Given the description of an element on the screen output the (x, y) to click on. 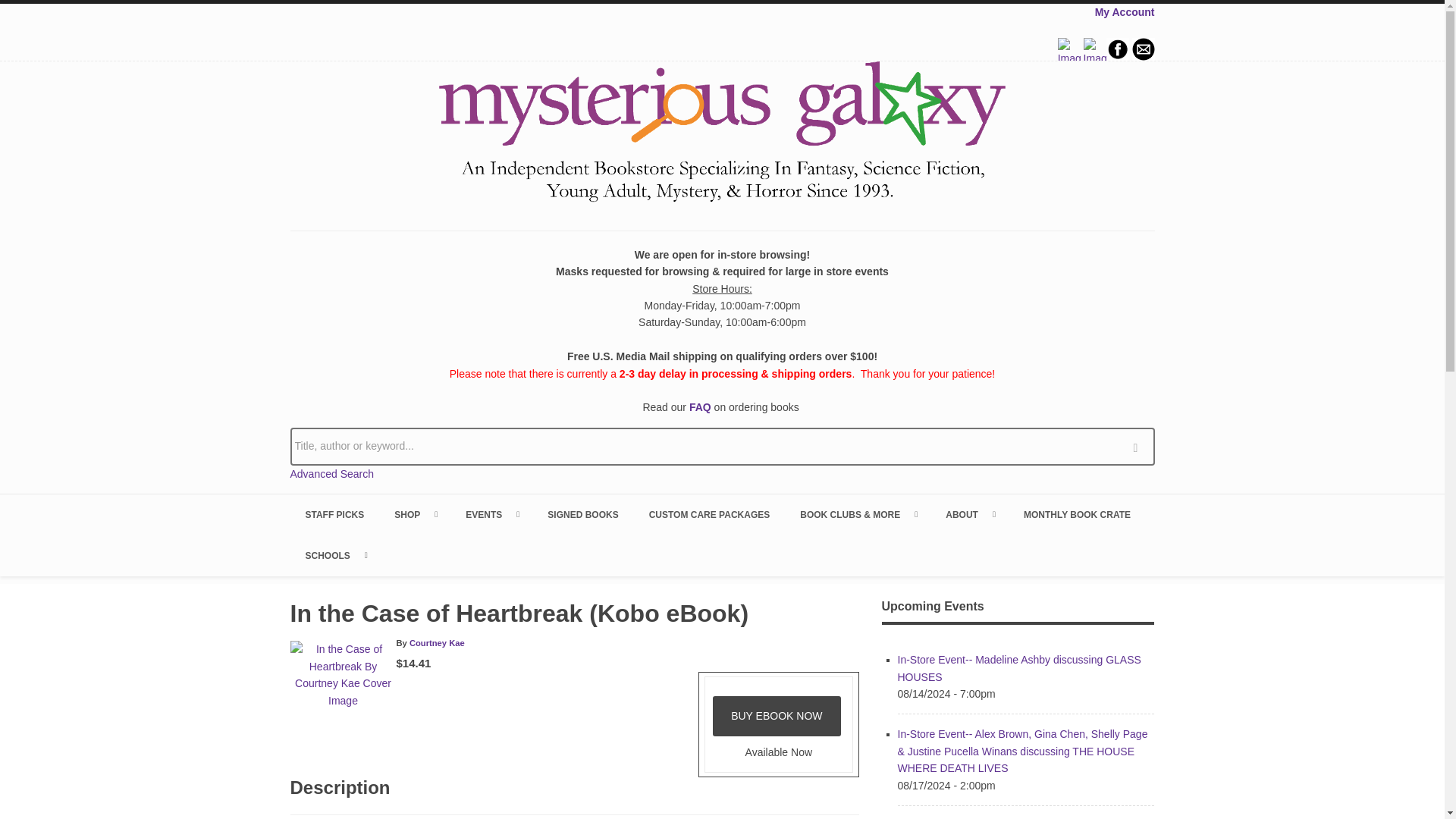
My Account (1124, 11)
FAQ (699, 407)
Advanced Search (331, 473)
Buy eBook Now (776, 715)
EVENTS (490, 514)
STAFF PICKS (333, 514)
Title, author or keyword... (721, 446)
SHOP (413, 514)
Home (722, 134)
